Given the description of an element on the screen output the (x, y) to click on. 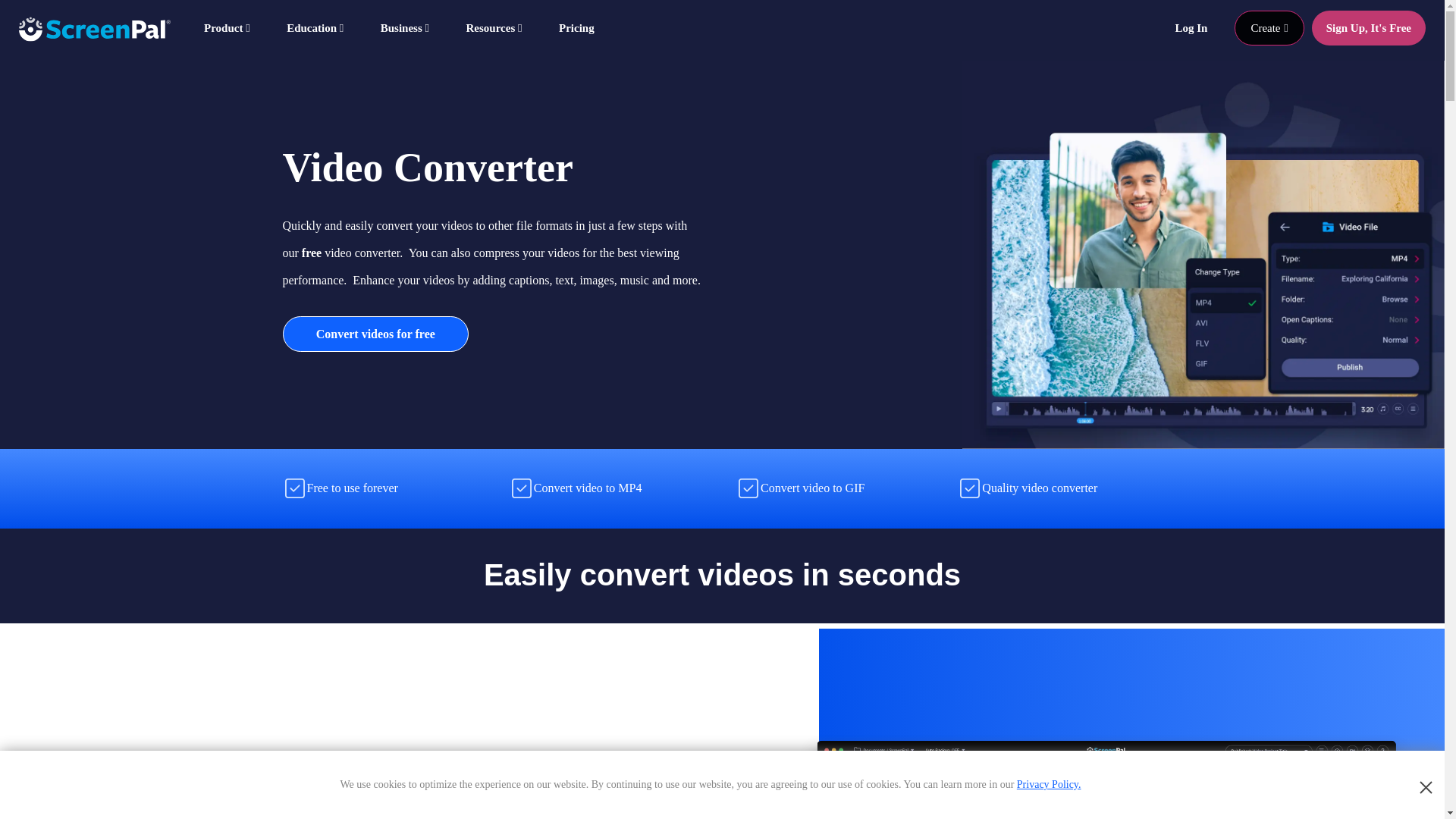
Convert video to GIF (748, 487)
Free to use forever (293, 487)
Log In (1190, 27)
Quality video converter (969, 487)
Education (316, 27)
Product (228, 27)
Sign Up, It's Free (1368, 27)
Create (1268, 27)
Convert video to MP4 (521, 487)
Business (406, 27)
